Given the description of an element on the screen output the (x, y) to click on. 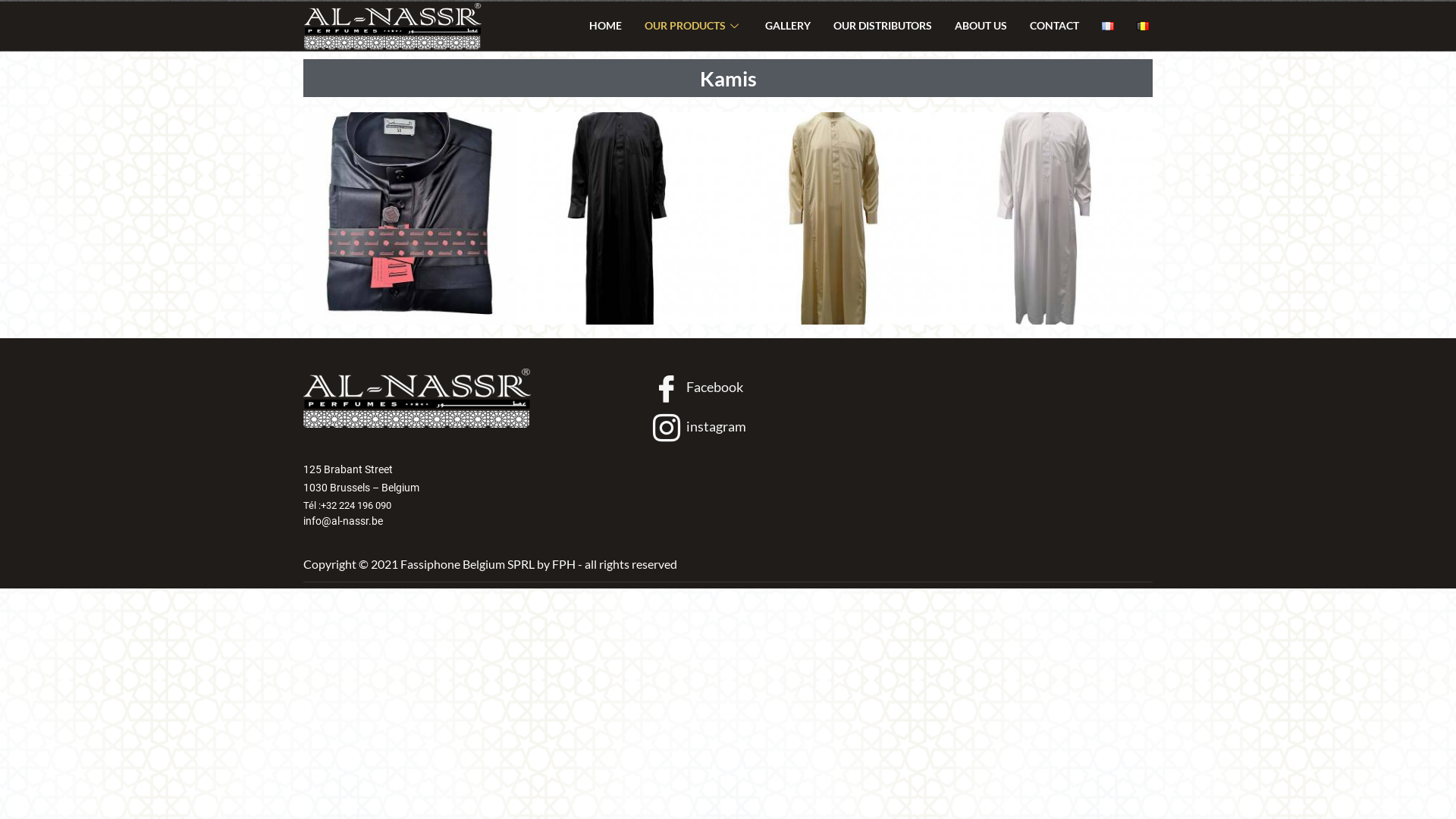
OUR PRODUCTS Element type: text (693, 25)
CONTACT Element type: text (1054, 25)
info@al-nassr.be Element type: text (467, 520)
ABOUT US Element type: text (980, 25)
HOME Element type: text (605, 25)
125, Rue de Brabant - 1030 Bruxelles Element type: hover (1007, 452)
GALLERY Element type: text (787, 25)
instagram Element type: text (699, 427)
OUR DISTRIBUTORS Element type: text (882, 25)
Facebook Element type: text (697, 387)
